Given the description of an element on the screen output the (x, y) to click on. 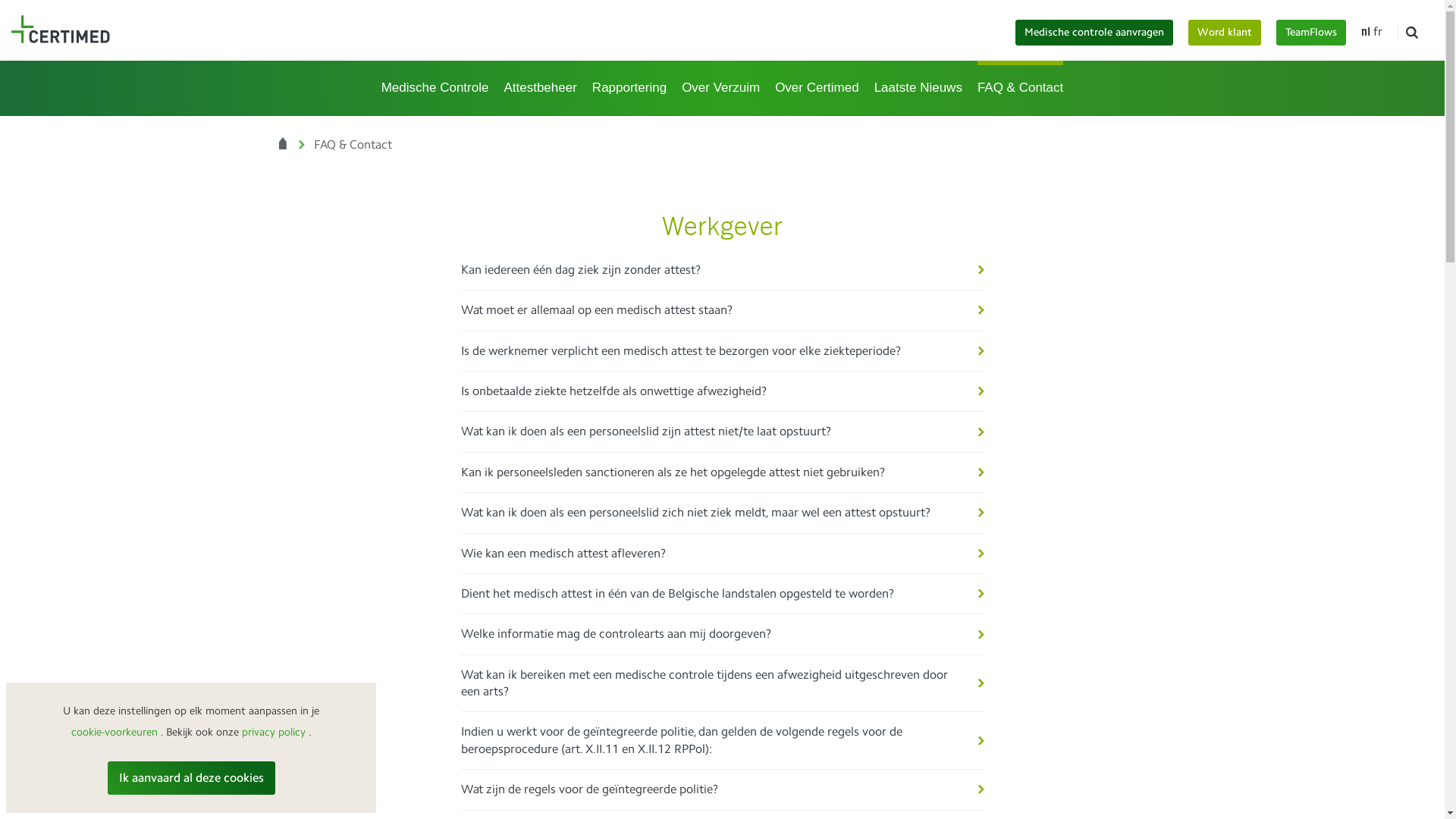
Laatste Nieuws Element type: text (918, 85)
Medische controle aanvragen Element type: text (1094, 32)
fr Element type: text (1377, 31)
Wie kan een medisch attest afleveren? Element type: text (722, 553)
Word klant Element type: text (1224, 32)
privacy policy Element type: text (272, 732)
Wat moet er allemaal op een medisch attest staan? Element type: text (722, 310)
cookie-voorkeuren Element type: text (114, 732)
Welke informatie mag de controlearts aan mij doorgeven? Element type: text (722, 634)
Medische Controle Element type: text (435, 85)
Over Verzuim Element type: text (720, 85)
Is onbetaalde ziekte hetzelfde als onwettige afwezigheid? Element type: text (722, 391)
Attestbeheer Element type: text (539, 85)
FAQ & Contact Element type: text (1020, 85)
Rapportering Element type: text (629, 85)
Over Certimed Element type: text (817, 85)
TeamFlows Element type: text (1311, 32)
Ik aanvaard al deze cookies Element type: text (191, 777)
